Given the description of an element on the screen output the (x, y) to click on. 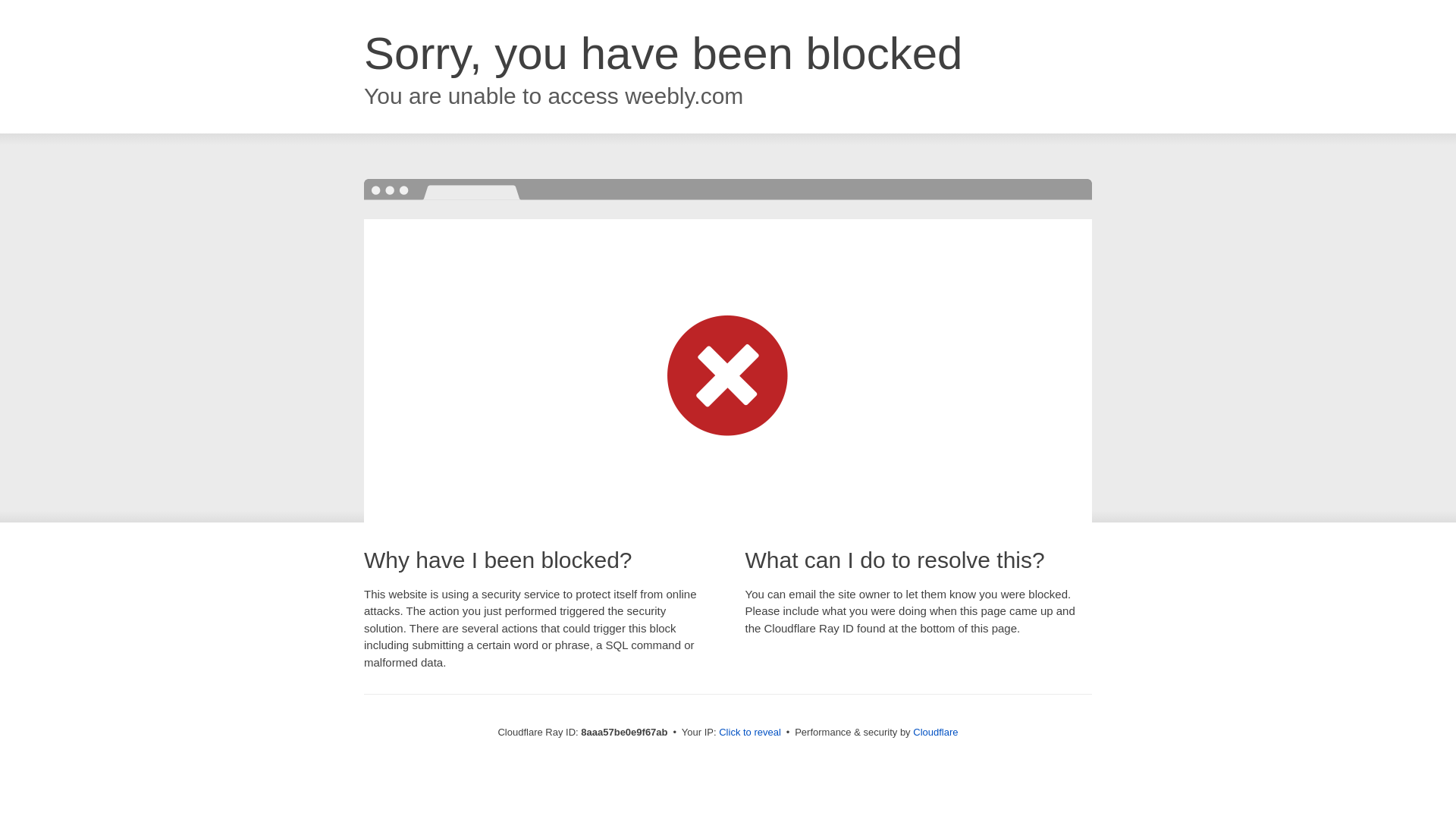
Click to reveal (749, 732)
Cloudflare (935, 731)
